Given the description of an element on the screen output the (x, y) to click on. 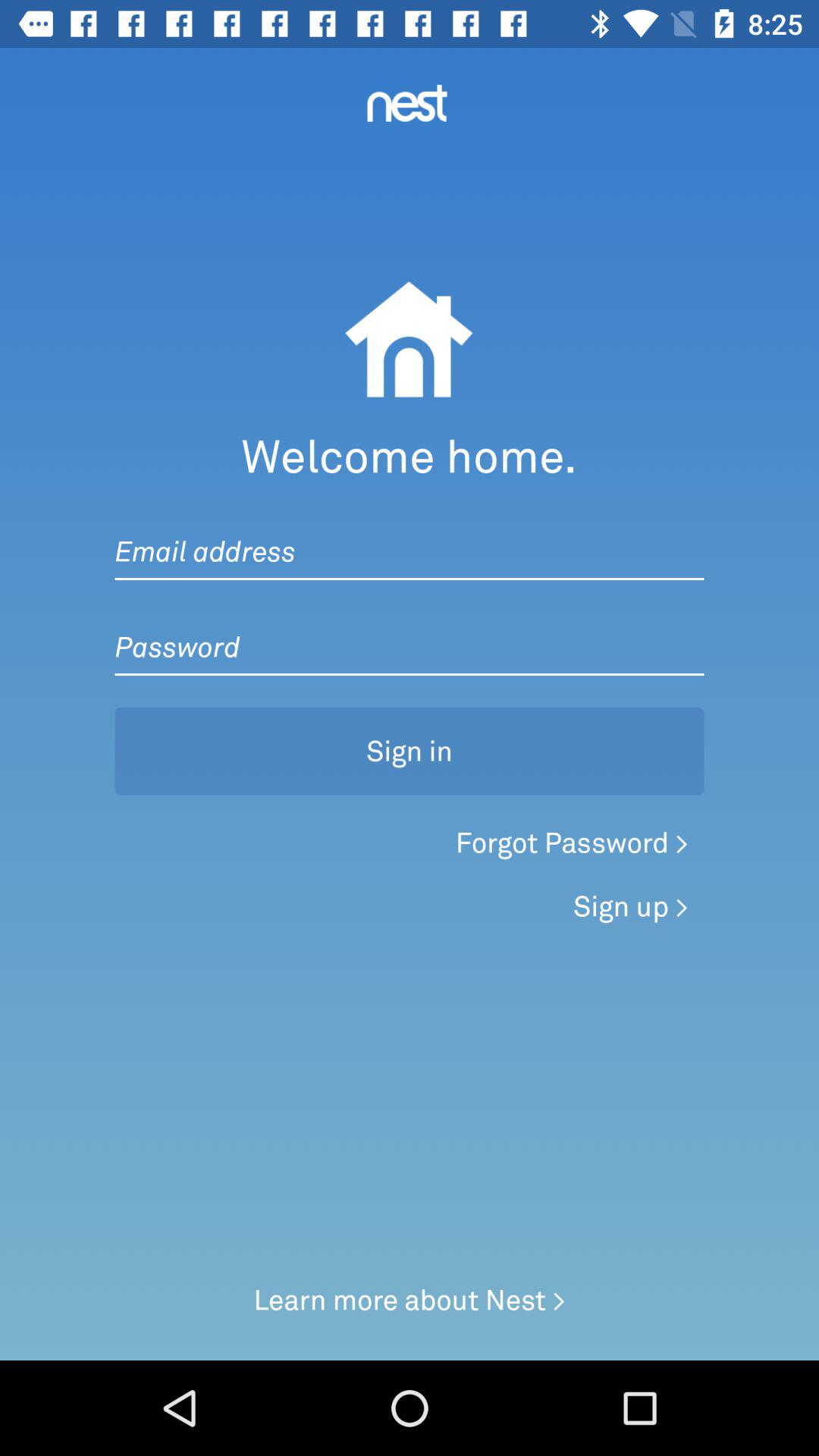
select learn more about icon (409, 1299)
